Given the description of an element on the screen output the (x, y) to click on. 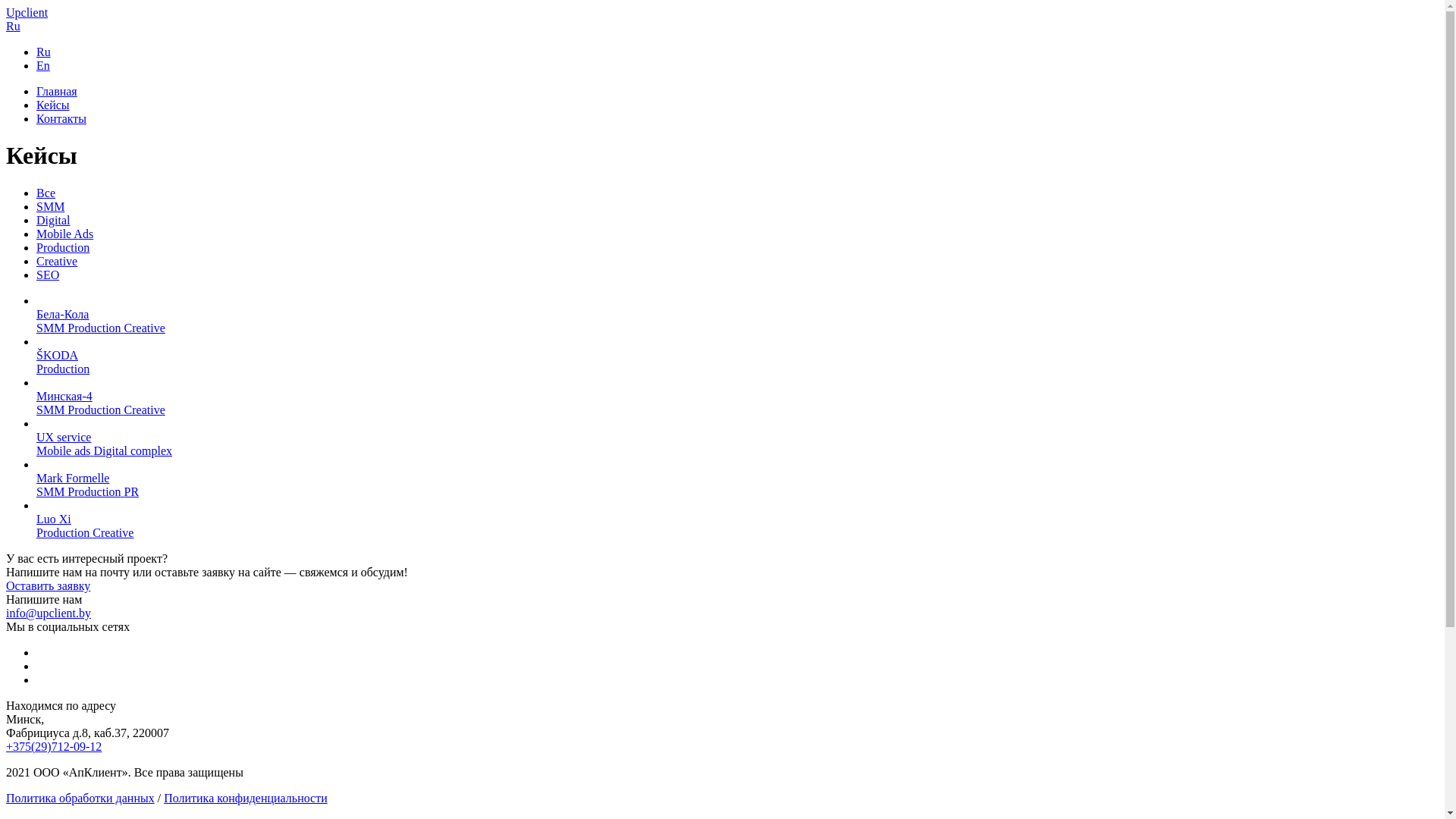
Ru Element type: text (43, 51)
+375(29)712-09-12 Element type: text (53, 746)
SMM Element type: text (50, 206)
info@upclient.by Element type: text (48, 612)
Mobile Ads Element type: text (64, 233)
Luo Xi
Production Creative Element type: text (737, 518)
Digital Element type: text (52, 219)
Production Element type: text (62, 247)
Creative Element type: text (56, 260)
Upclient Element type: text (26, 12)
UX service
Mobile ads Digital complex Element type: text (737, 437)
Mark Formelle
SMM Production PR Element type: text (737, 478)
Ru Element type: text (13, 25)
En Element type: text (43, 65)
SEO Element type: text (47, 274)
